Given the description of an element on the screen output the (x, y) to click on. 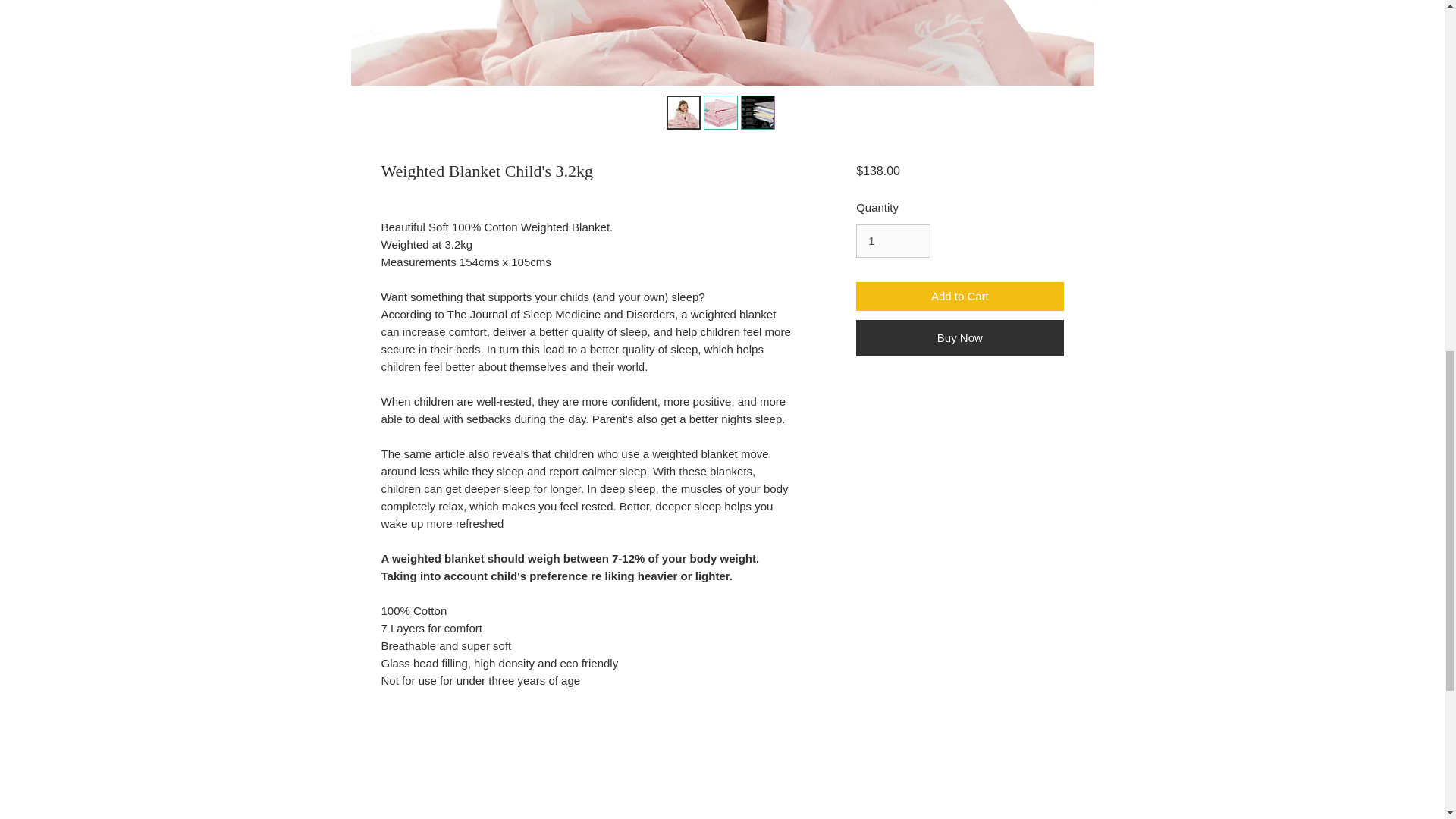
Add to Cart (959, 296)
Buy Now (959, 338)
1 (893, 240)
